Given the description of an element on the screen output the (x, y) to click on. 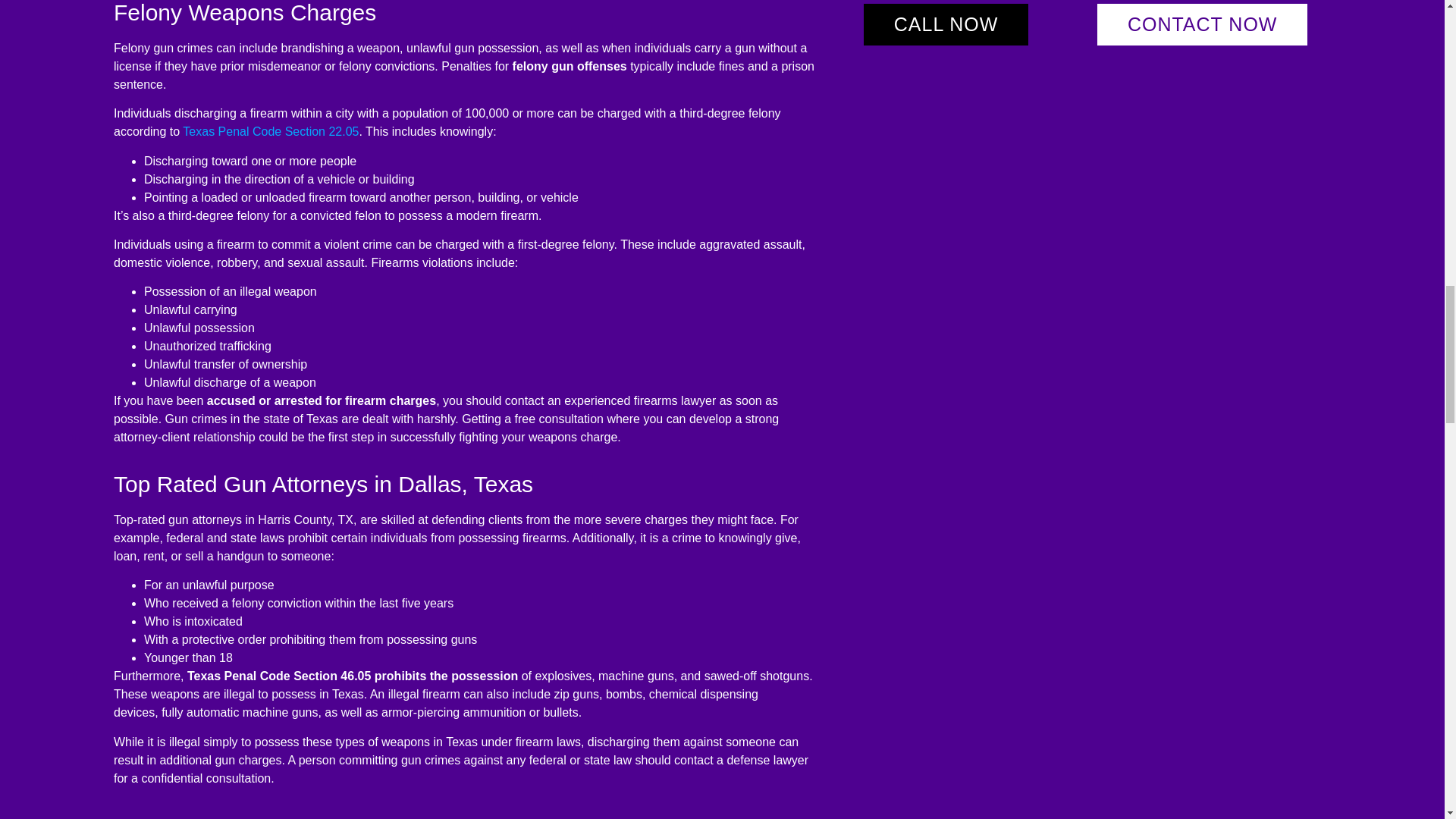
CALL NOW (946, 24)
CONTACT NOW (1202, 24)
Texas Penal Code Section 22.05 (270, 131)
